Given the description of an element on the screen output the (x, y) to click on. 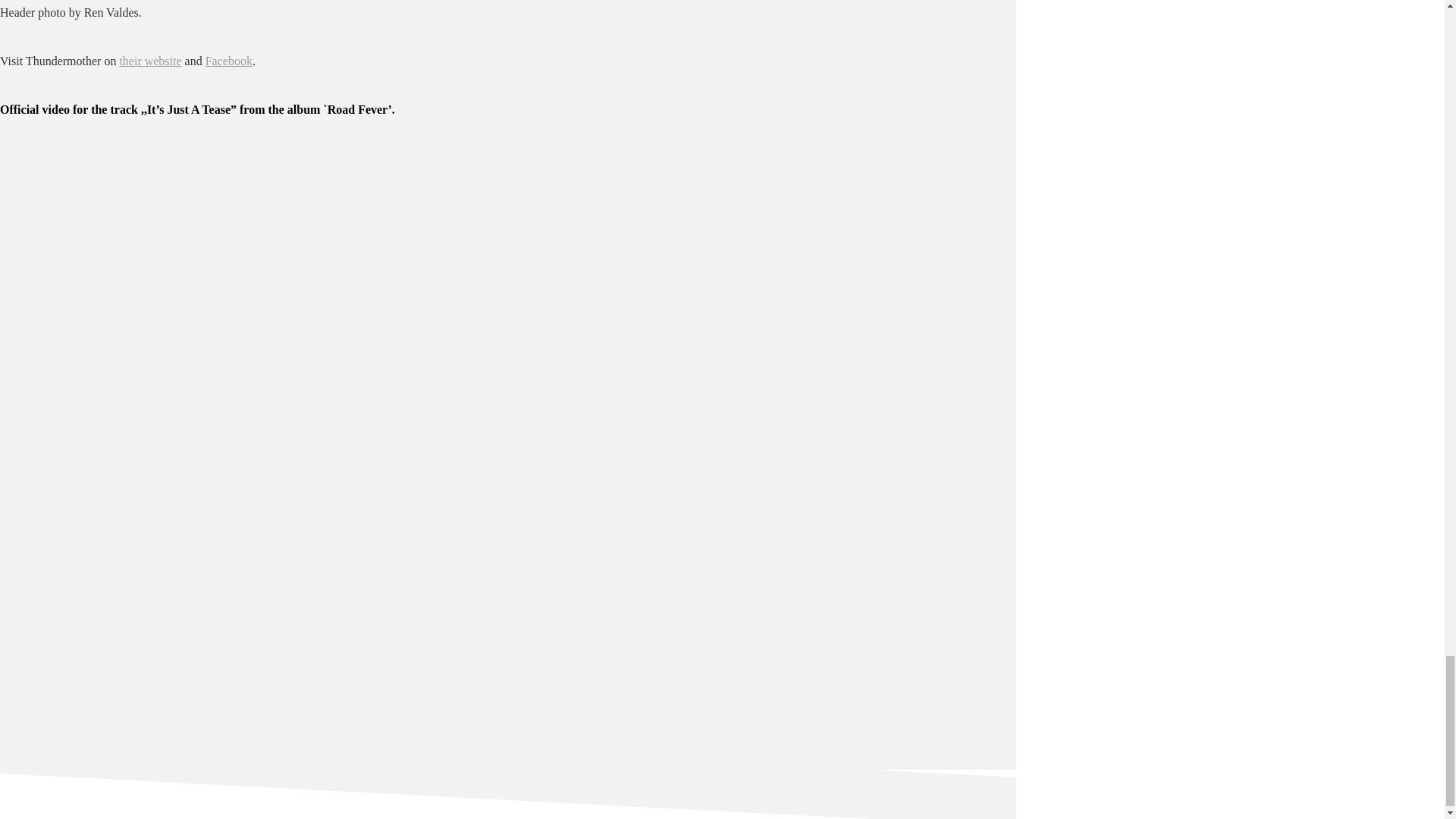
Facebook (228, 60)
their website (149, 60)
